Given the description of an element on the screen output the (x, y) to click on. 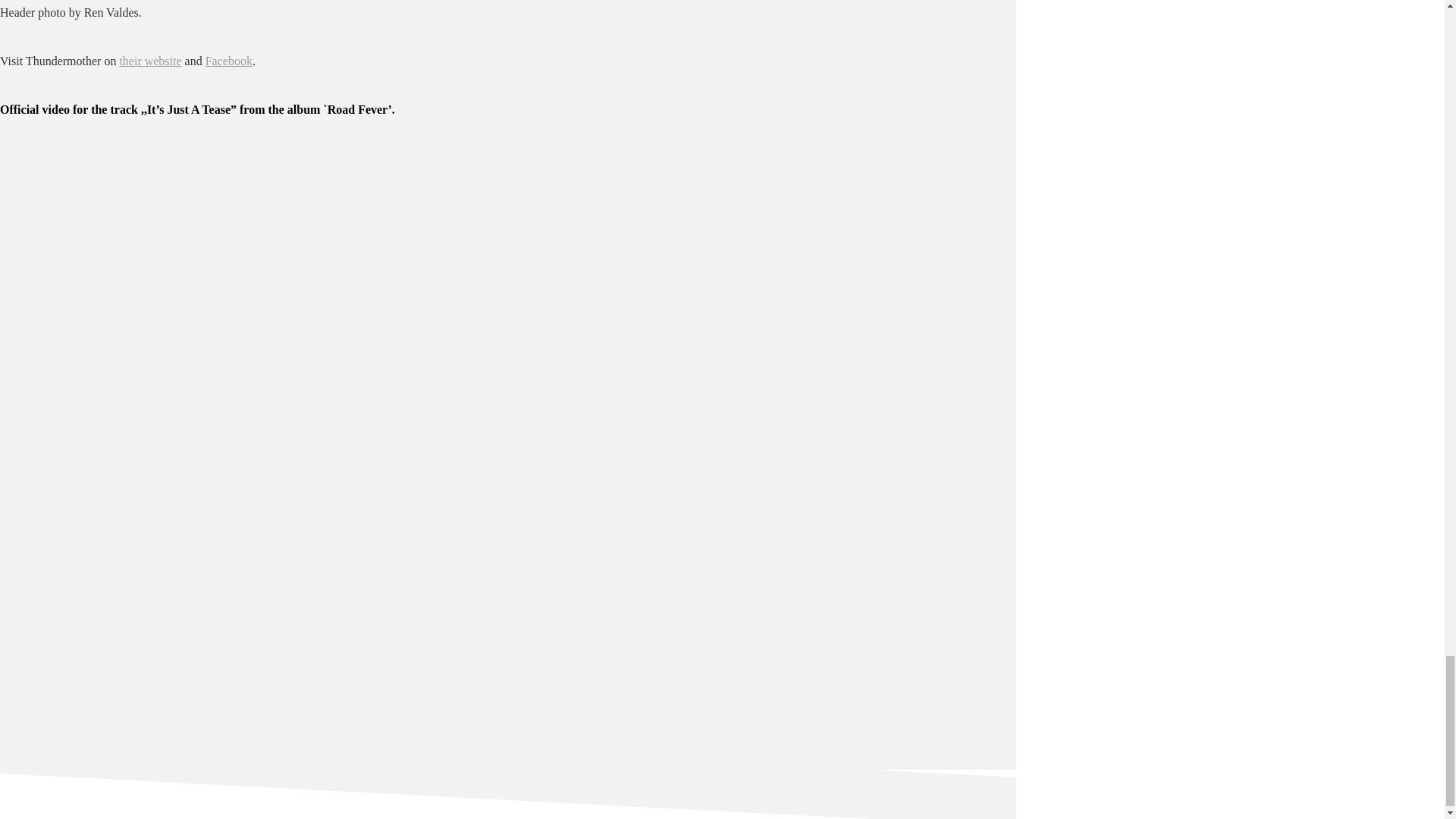
Facebook (228, 60)
their website (149, 60)
